Given the description of an element on the screen output the (x, y) to click on. 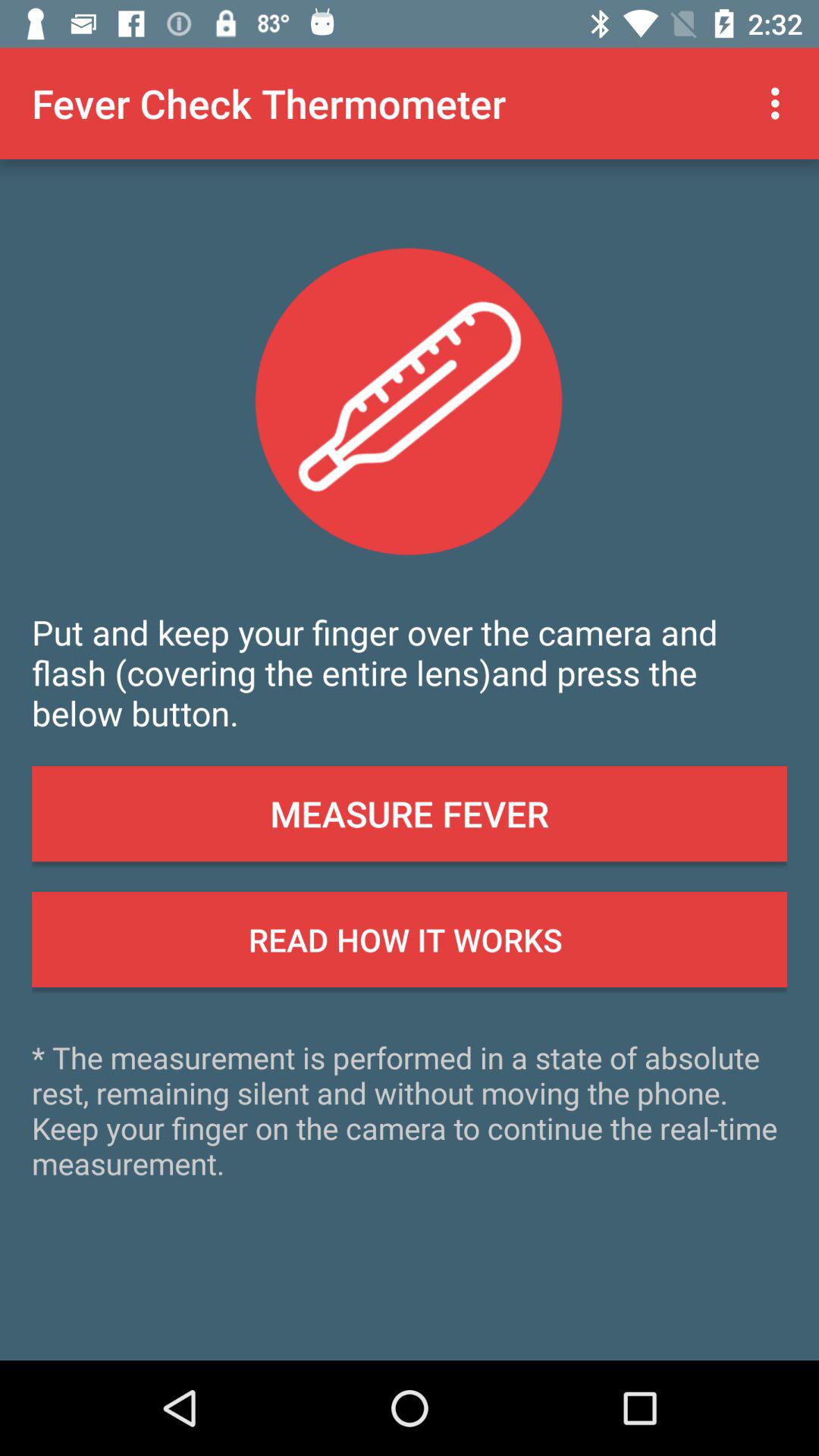
open app to the right of the fever check thermometer item (779, 103)
